Given the description of an element on the screen output the (x, y) to click on. 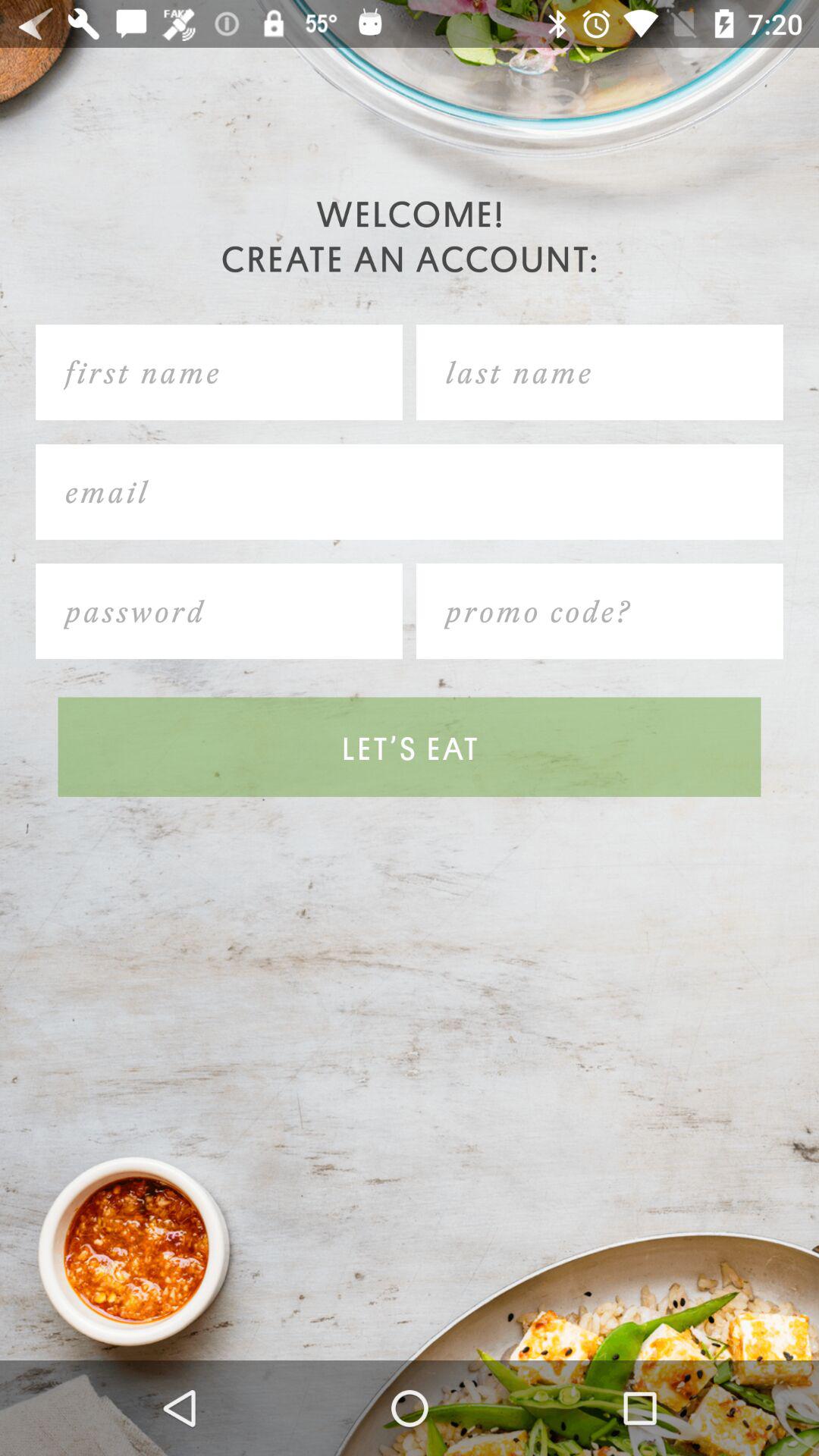
enter password (218, 611)
